Given the description of an element on the screen output the (x, y) to click on. 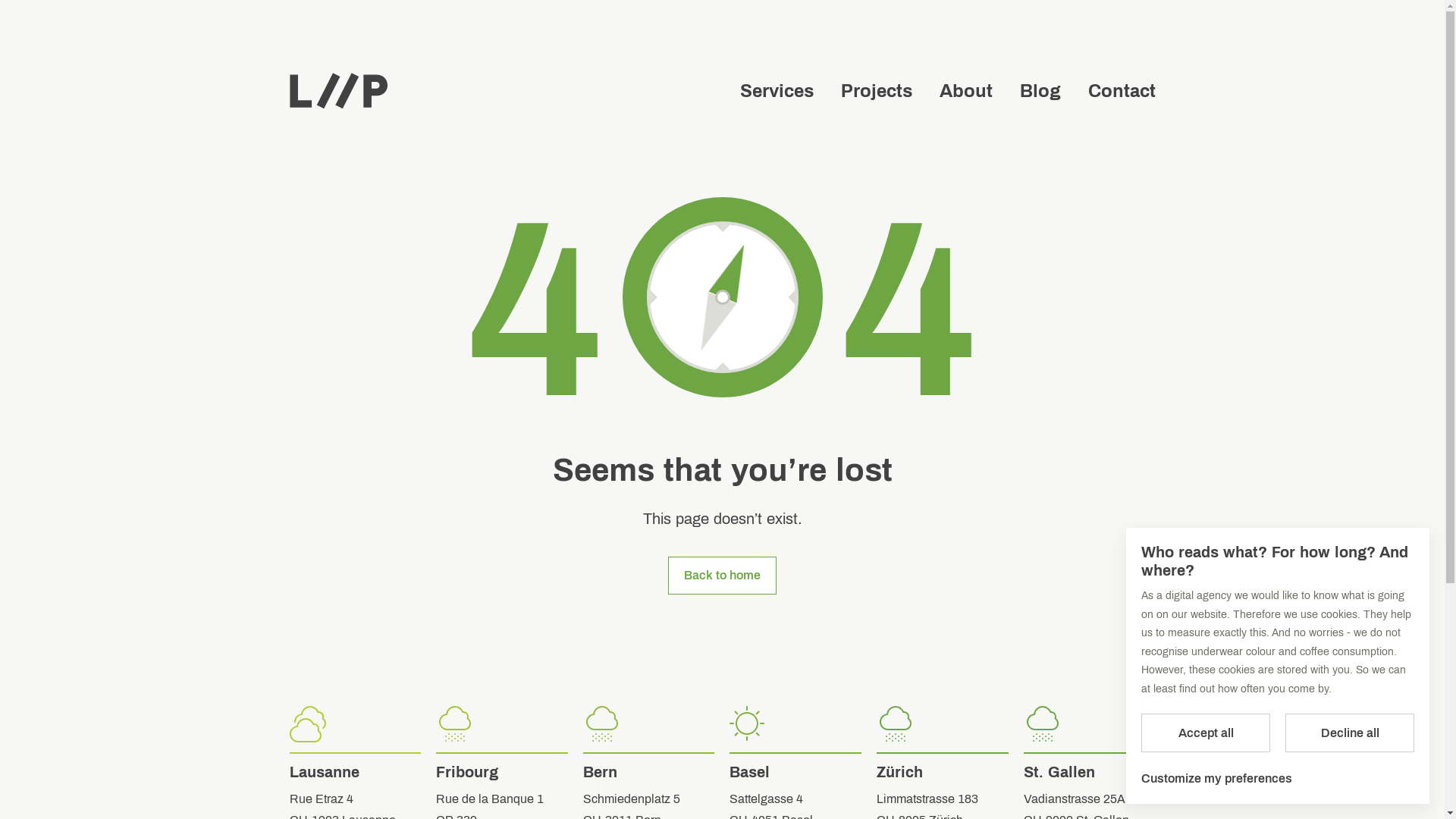
Services Element type: text (776, 90)
Decline all Element type: text (1349, 732)
Projects Element type: text (875, 90)
Blog Element type: text (1039, 90)
Accept all Element type: text (1205, 732)
Back to home Element type: text (722, 575)
Customize my preferences Element type: text (1216, 778)
About Element type: text (964, 90)
Contact Element type: text (1120, 90)
